Given the description of an element on the screen output the (x, y) to click on. 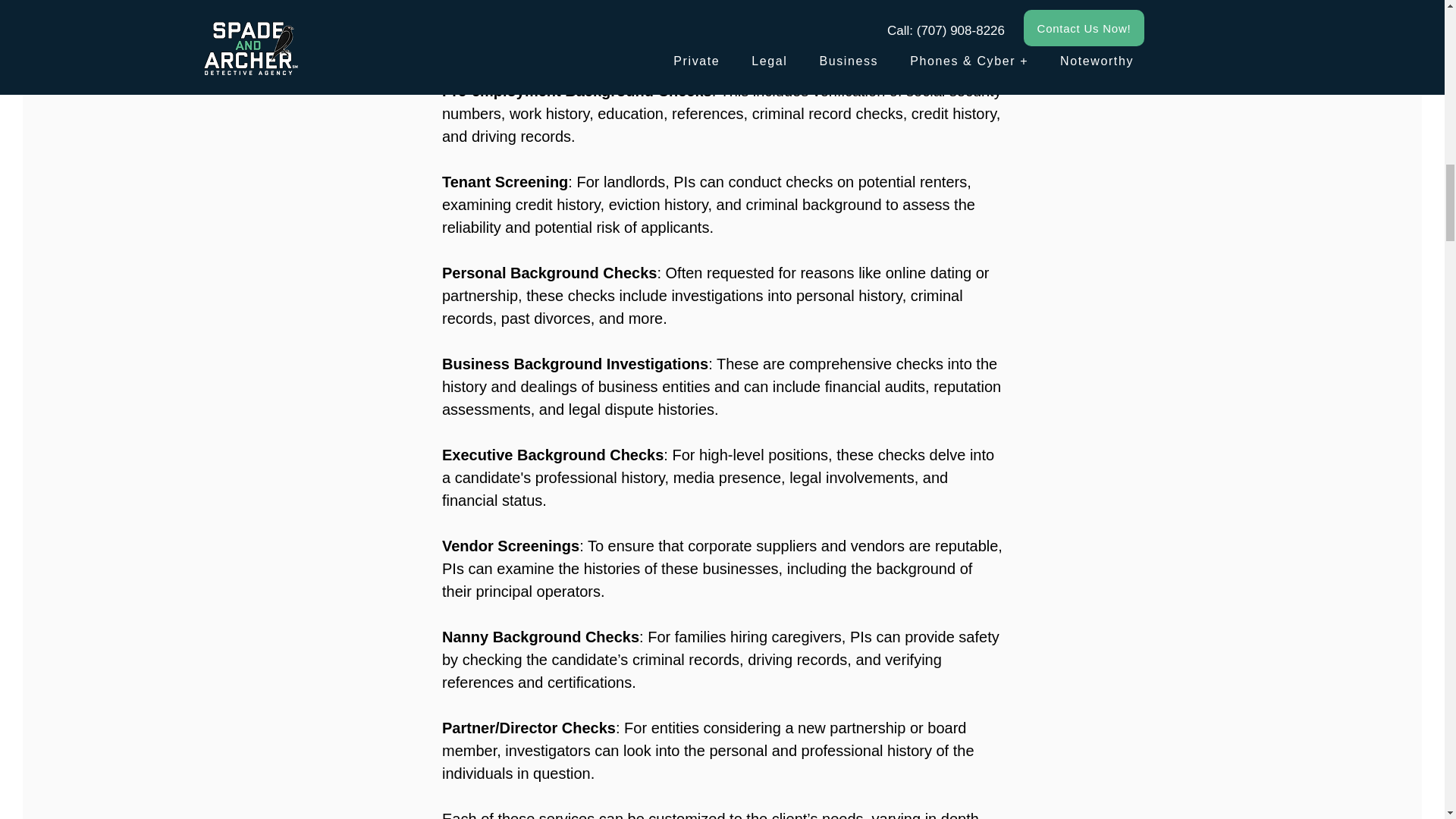
licensed private detective agency (552, 22)
